Given the description of an element on the screen output the (x, y) to click on. 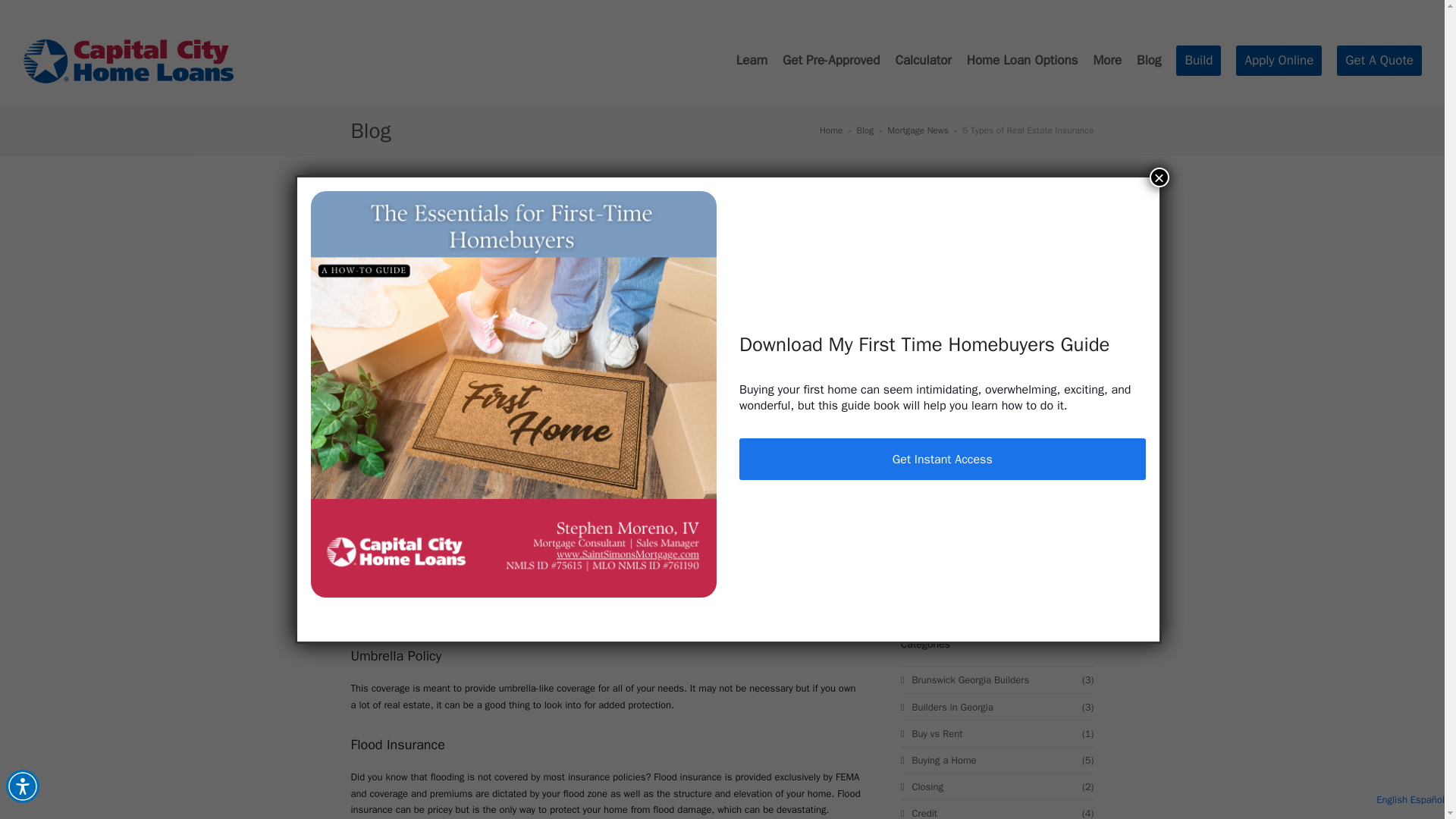
Pre-Qualify (831, 61)
Stephen Moreno (494, 224)
Get Pre-Approved (831, 61)
Build (997, 459)
Calculator (1198, 61)
Home (922, 61)
Apply Online (831, 130)
Mortgage News (1279, 61)
Build (586, 224)
Loan Options (1198, 61)
Get A Quote (1022, 61)
Calculator (1379, 61)
Blog (922, 61)
Accessibility Menu (866, 130)
